Given the description of an element on the screen output the (x, y) to click on. 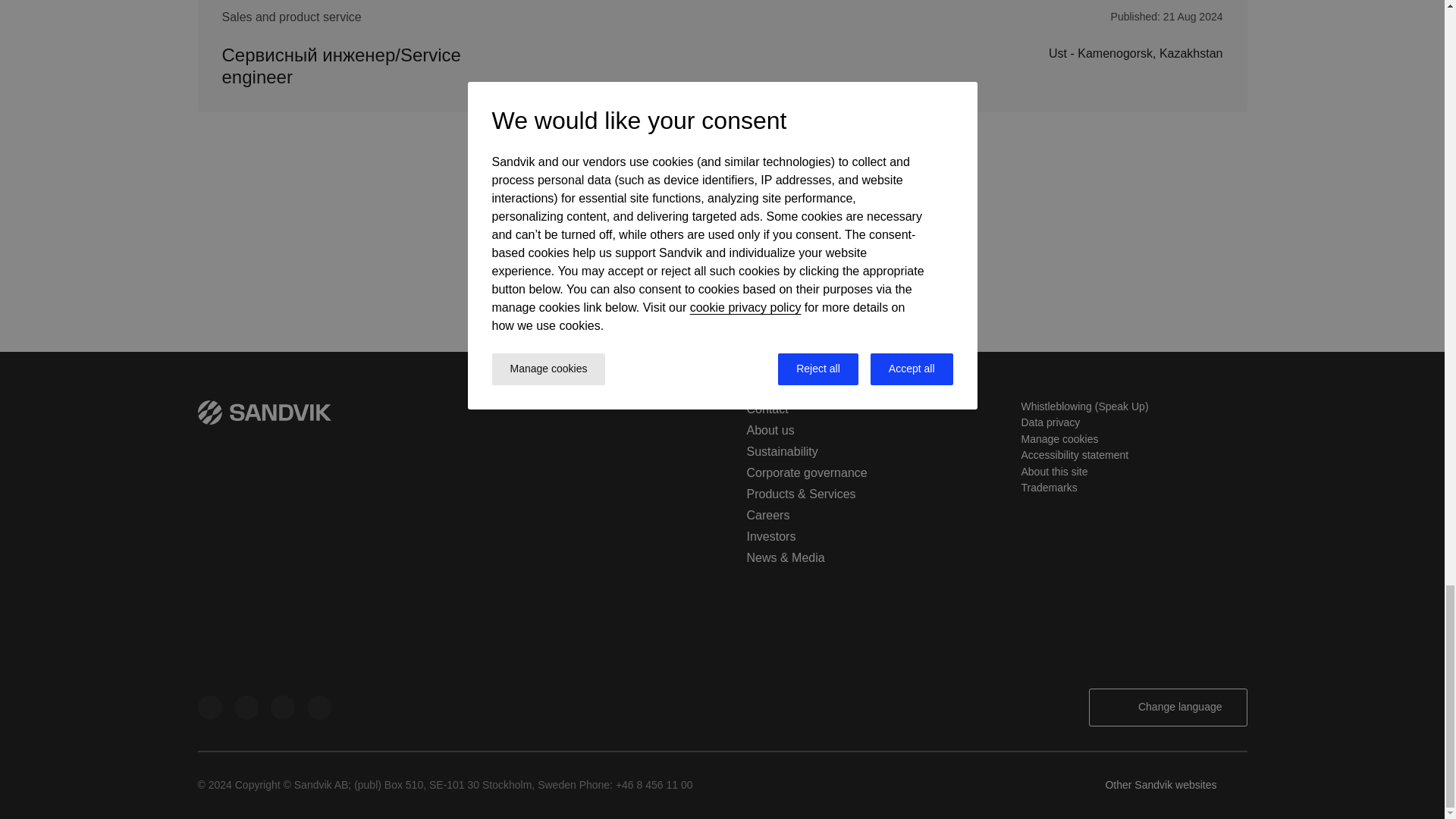
Sustainability (780, 451)
About us (769, 430)
About this site (1053, 471)
Manage cookies (1058, 439)
Load more (721, 238)
Careers (767, 514)
Corporate governance (805, 472)
Investors (769, 535)
Linkedin (208, 707)
Trademarks (1048, 487)
